Given the description of an element on the screen output the (x, y) to click on. 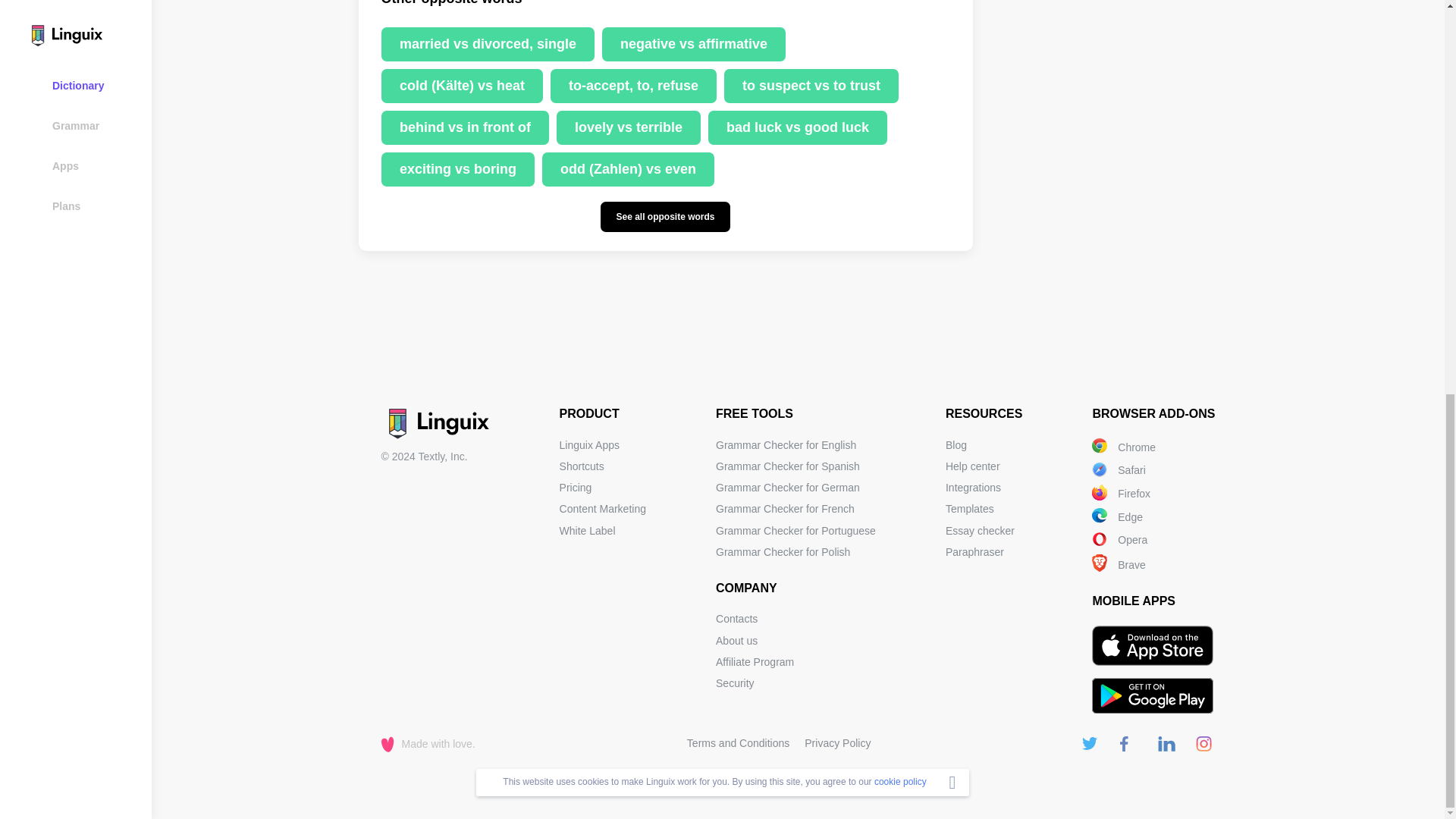
exciting vs boring (457, 169)
Grammar Checker for French (785, 508)
to-accept, to, refuse (633, 85)
bad luck vs good luck (796, 127)
Grammar Checker for Spanish (788, 466)
Paraphraser (974, 551)
negative vs affirmative (694, 44)
behind vs in front of (464, 127)
Grammar Checker for Polish (783, 551)
married vs divorced, single (487, 44)
Grammar Checker for German (788, 487)
Grammar Checker for English (786, 444)
Grammar Checker for Portuguese (796, 530)
Essay checker (979, 530)
Shortcuts (581, 466)
